Given the description of an element on the screen output the (x, y) to click on. 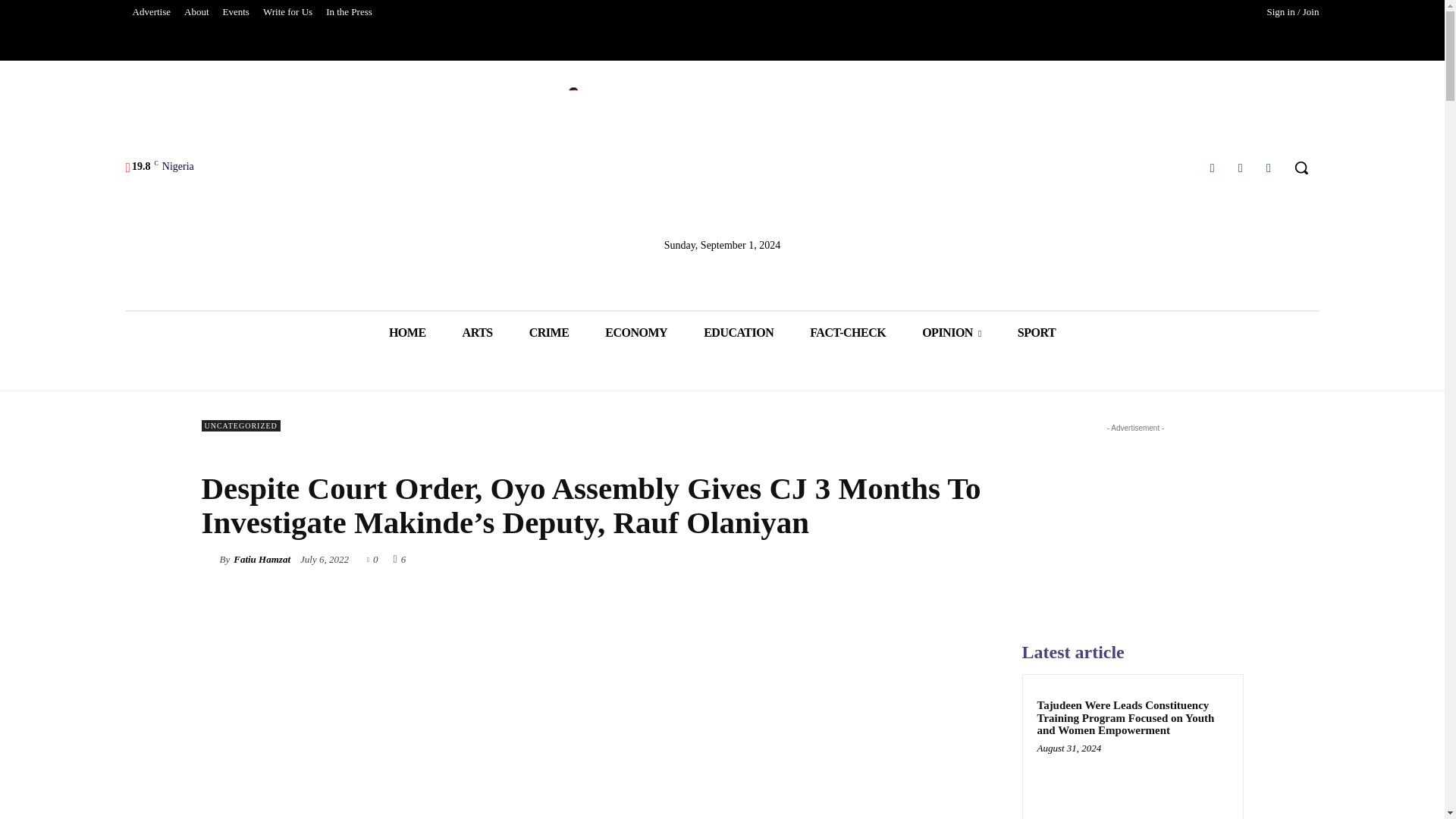
FACT-CHECK (848, 332)
Twitter (1240, 168)
HOME (407, 332)
Facebook (1212, 168)
EDUCATION (738, 332)
Advertise (151, 12)
Events (235, 12)
In the Press (348, 12)
CRIME (549, 332)
Write for Us (287, 12)
